Given the description of an element on the screen output the (x, y) to click on. 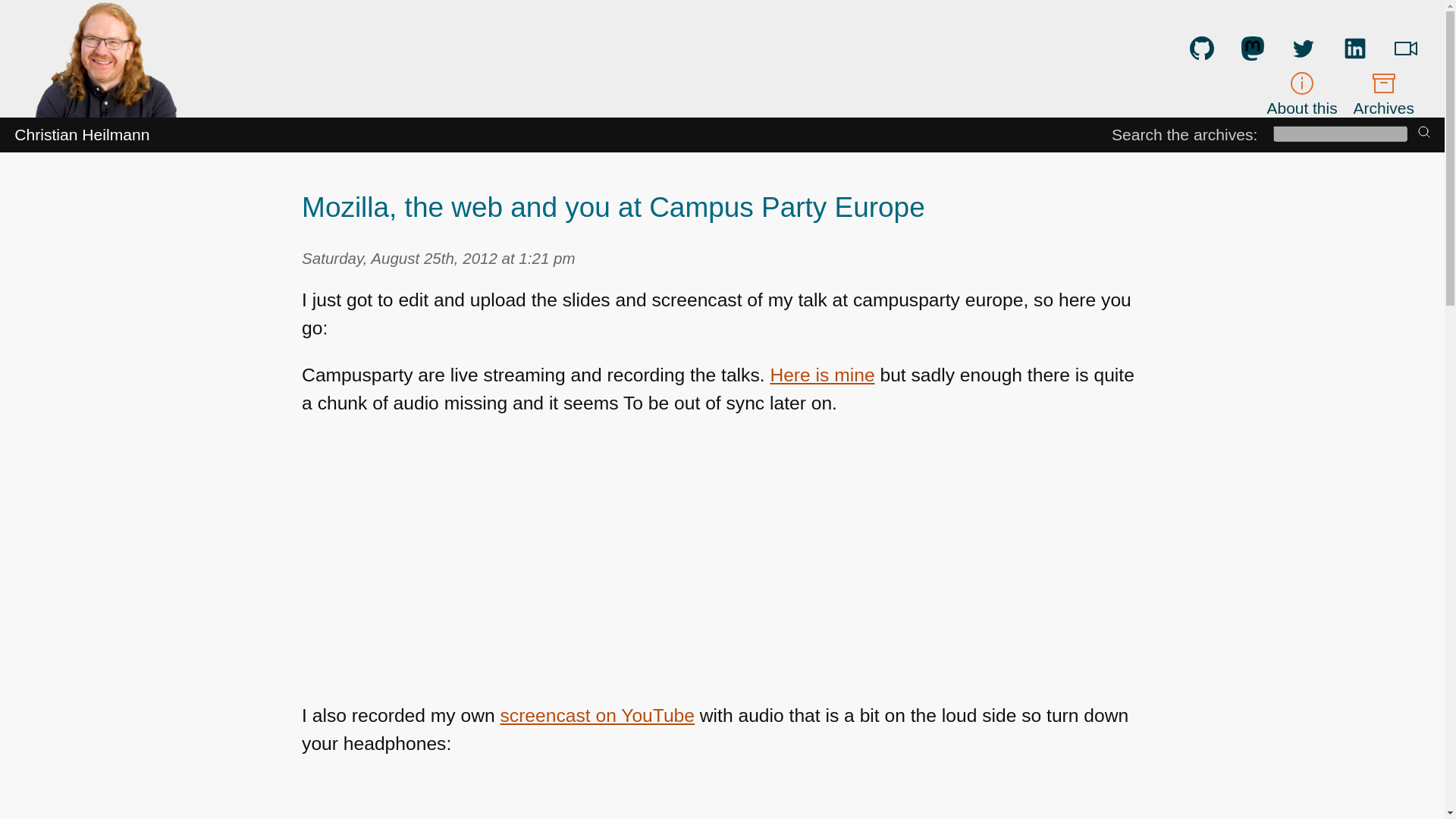
screencast on YouTube (597, 715)
Chris Heilmann on Mastodon (1252, 48)
Chris Heilmann on YouTube (1405, 48)
Codepo8 on GitHub (1201, 48)
Archives (1383, 92)
About this (1302, 92)
Codepo8 on Twitter (1303, 48)
Christian Heilmann (81, 135)
Here is mine (822, 374)
